Given the description of an element on the screen output the (x, y) to click on. 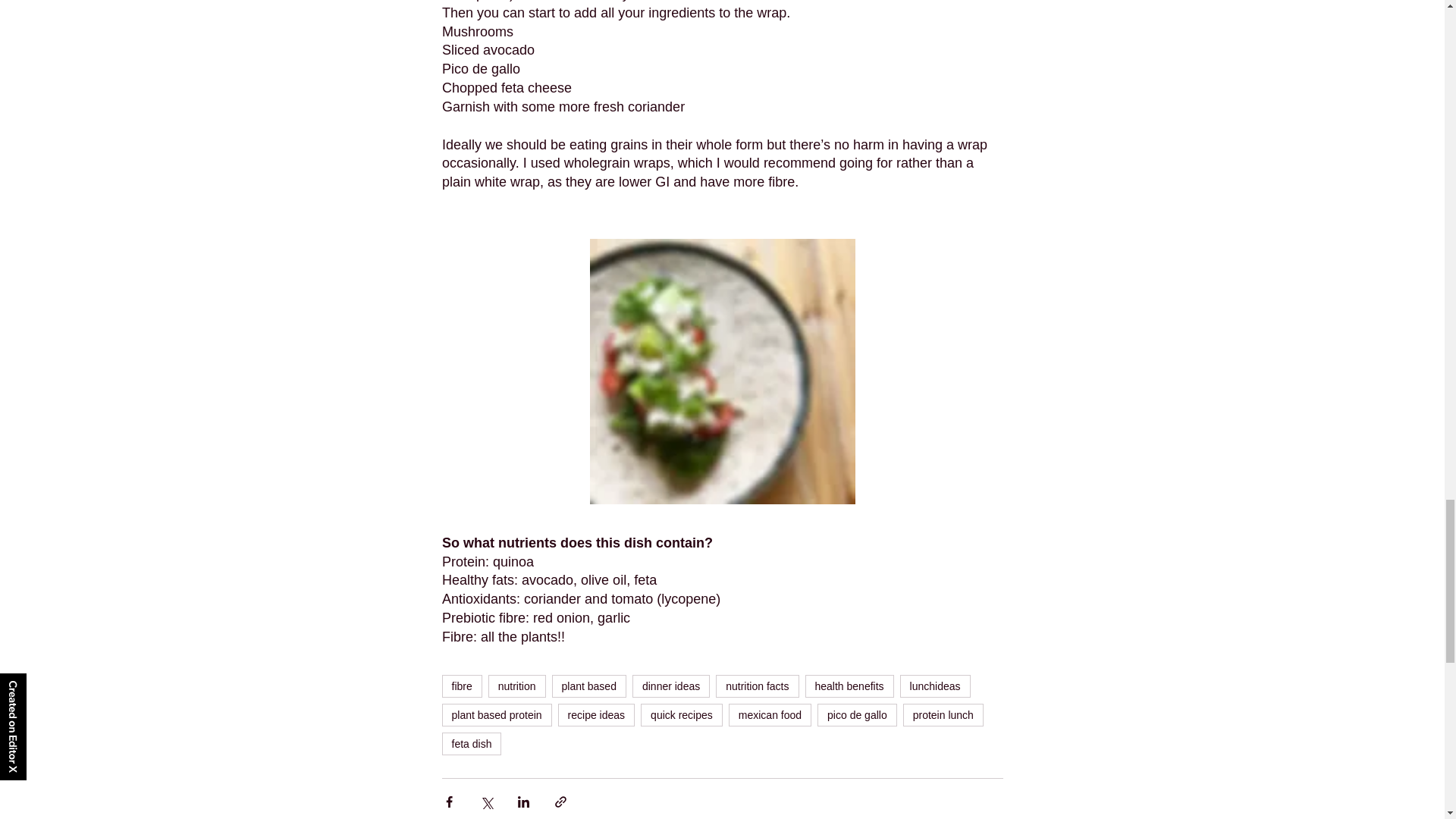
plant based (588, 685)
fibre (461, 685)
quick recipes (681, 714)
dinner ideas (670, 685)
nutrition facts (756, 685)
plant based protein (496, 714)
pico de gallo (856, 714)
recipe ideas (595, 714)
protein lunch (943, 714)
health benefits (849, 685)
